Given the description of an element on the screen output the (x, y) to click on. 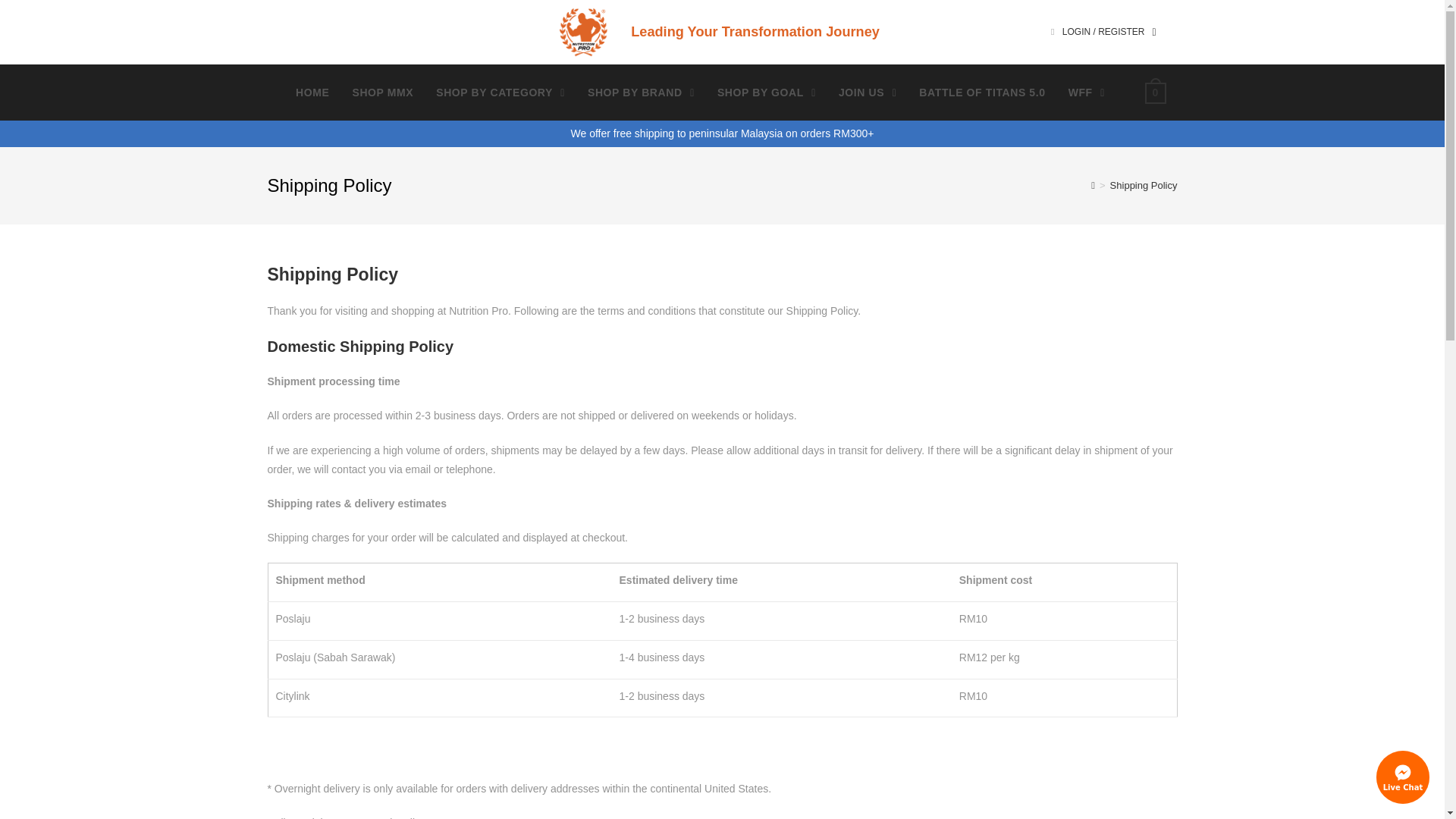
SHOP BY BRAND (641, 92)
SHOP BY CATEGORY (500, 92)
HOME (311, 92)
SHOP MMX (382, 92)
